Given the description of an element on the screen output the (x, y) to click on. 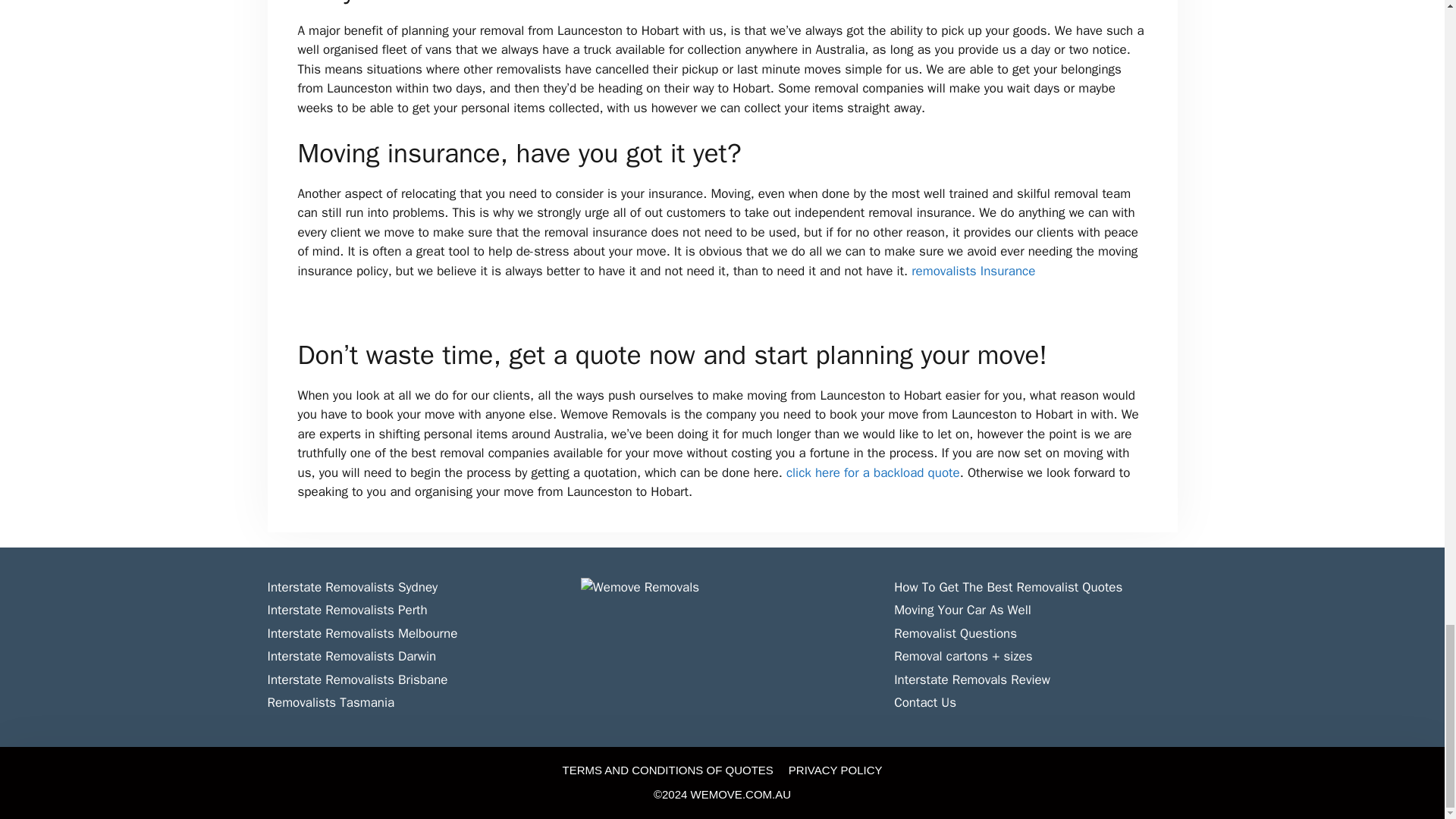
Moving Your Car As Well (961, 609)
Interstate Removals Review (971, 679)
Removalists Tasmania (330, 702)
Interstate Removalists Sydney (352, 587)
TERMS AND CONDITIONS OF QUOTES (667, 769)
Interstate Removalists Brisbane (356, 679)
How To Get The Best Removalist Quotes (1007, 587)
Removalist Questions (954, 633)
removalists Insurance (973, 270)
Interstate Removalists Perth (346, 609)
